Given the description of an element on the screen output the (x, y) to click on. 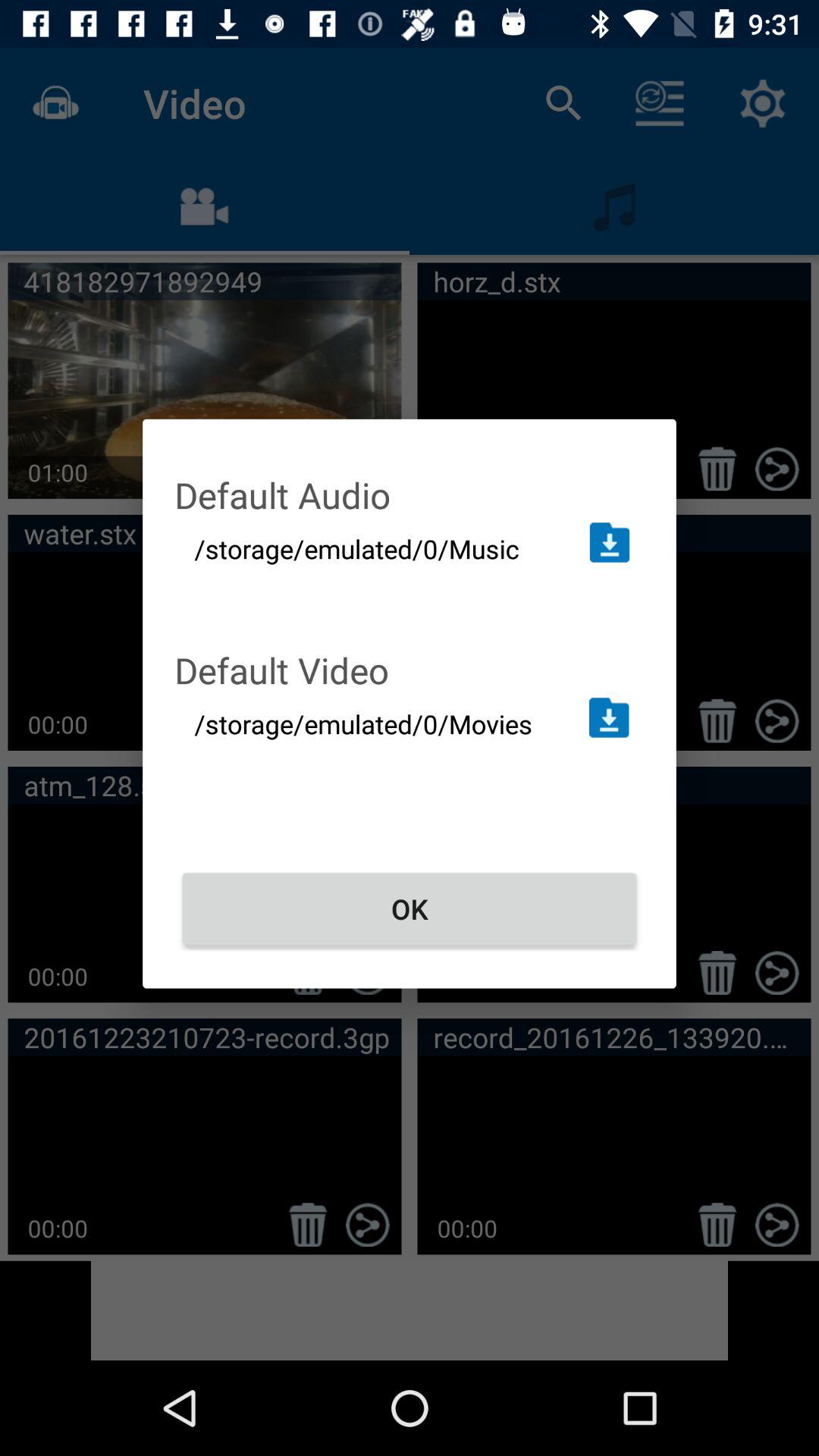
open folder (608, 717)
